Given the description of an element on the screen output the (x, y) to click on. 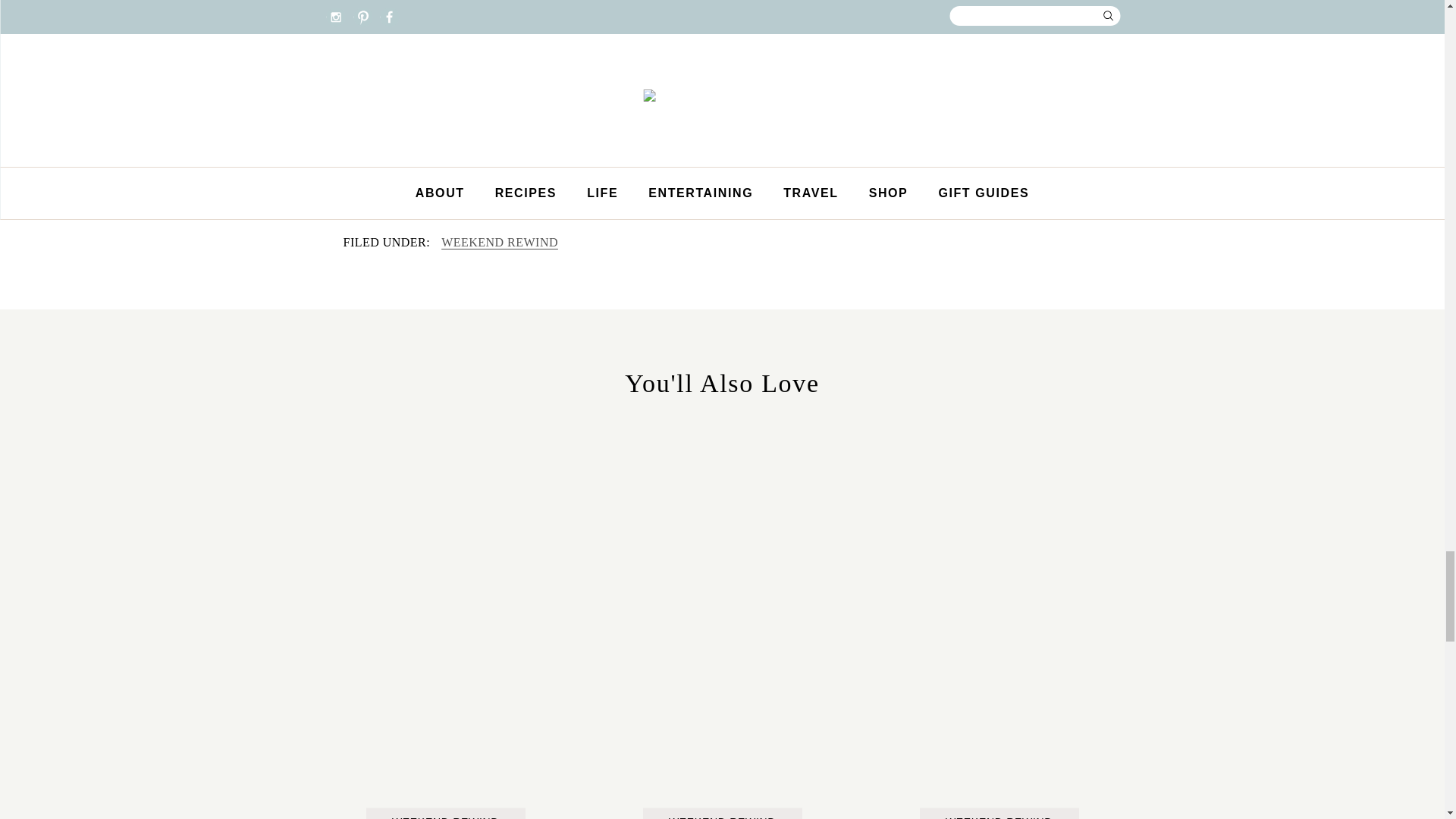
WEEKEND REWIND (499, 241)
PREVIOUS POST (425, 176)
NEXT POST (769, 176)
